Given the description of an element on the screen output the (x, y) to click on. 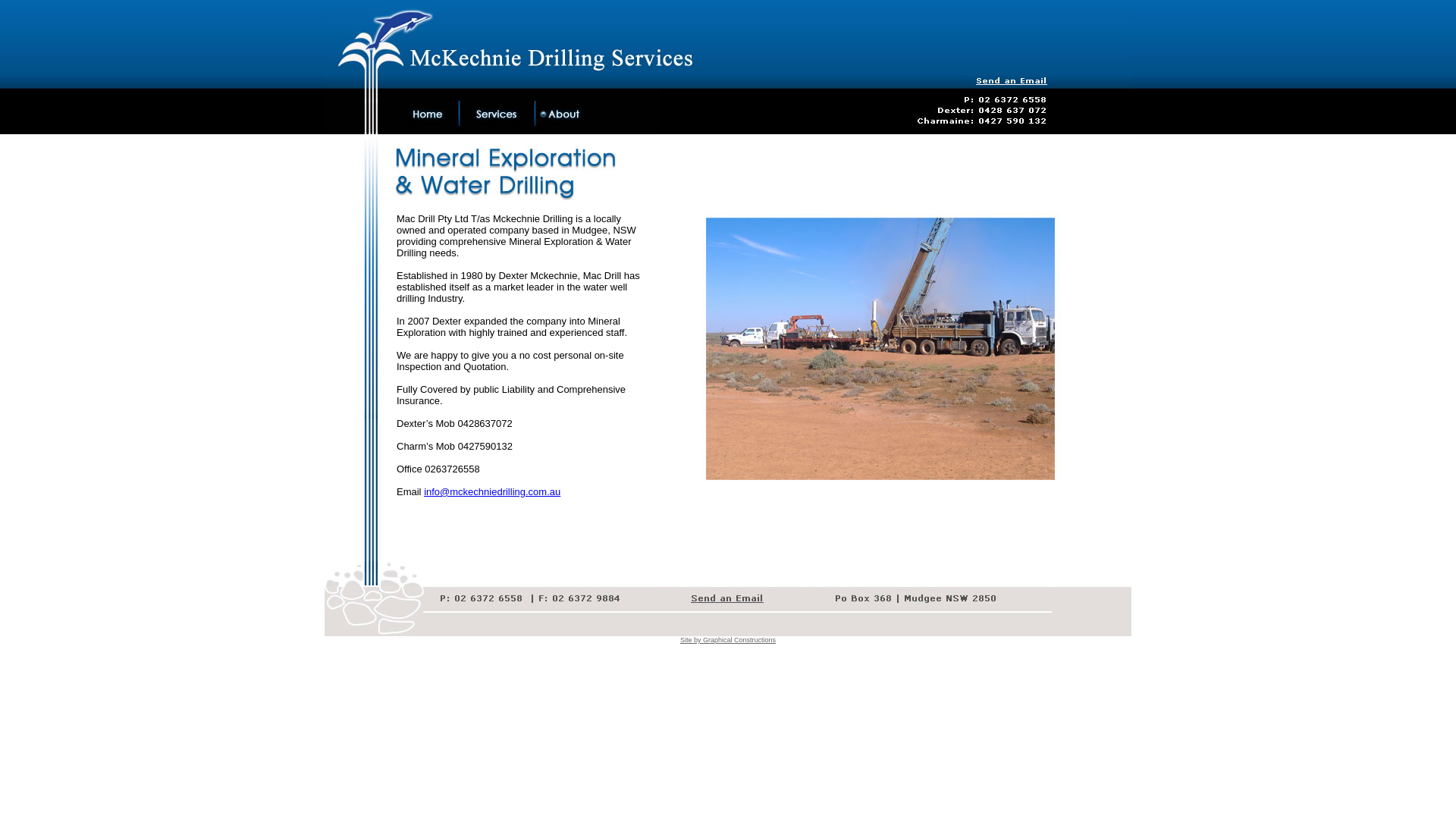
info@mckechniedrilling.com.au Element type: text (491, 491)
Site by Graphical Constructions Element type: text (727, 639)
